Given the description of an element on the screen output the (x, y) to click on. 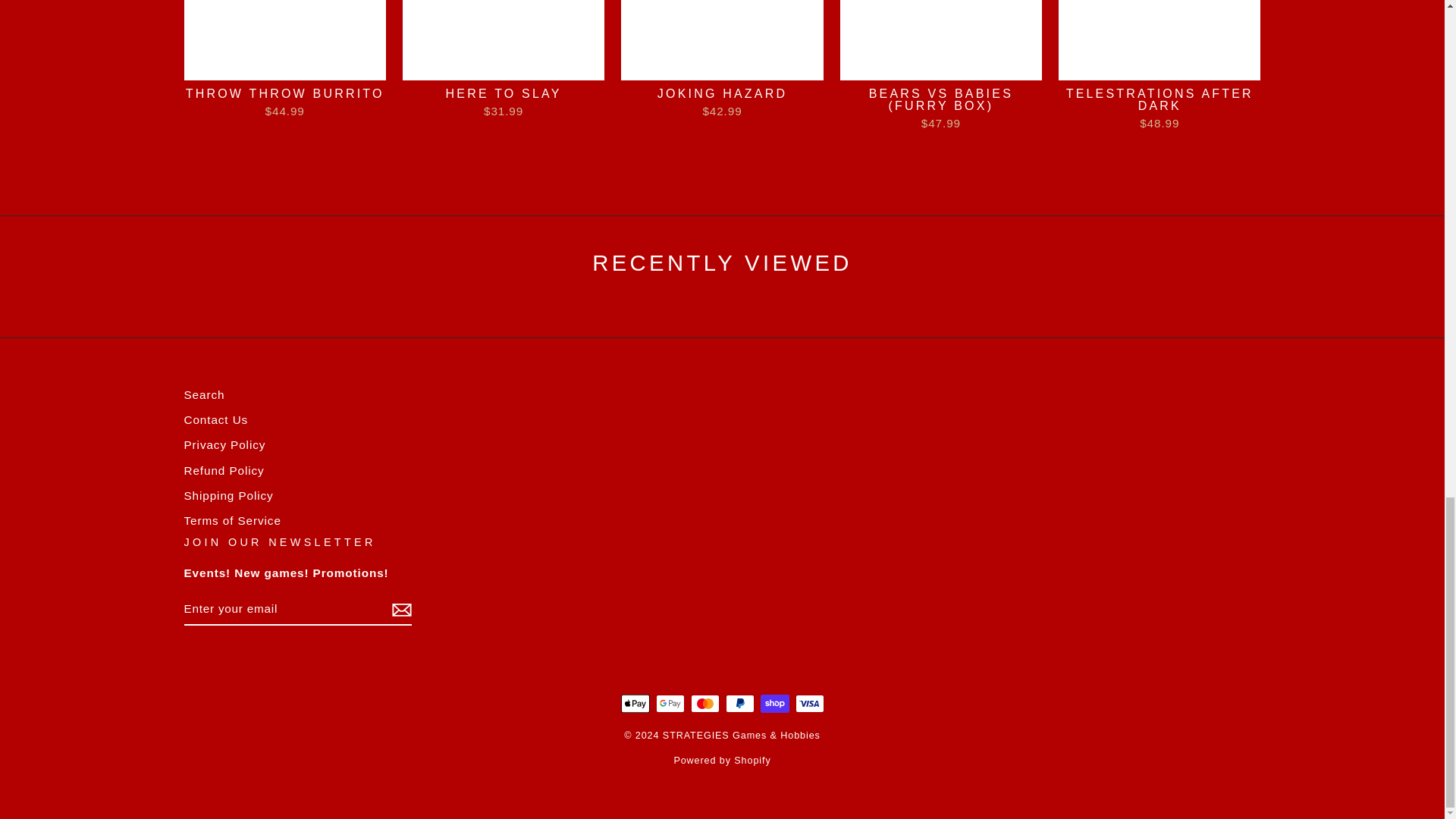
PayPal (739, 703)
Visa (809, 703)
Apple Pay (634, 703)
Shop Pay (774, 703)
Mastercard (704, 703)
Google Pay (669, 703)
